Given the description of an element on the screen output the (x, y) to click on. 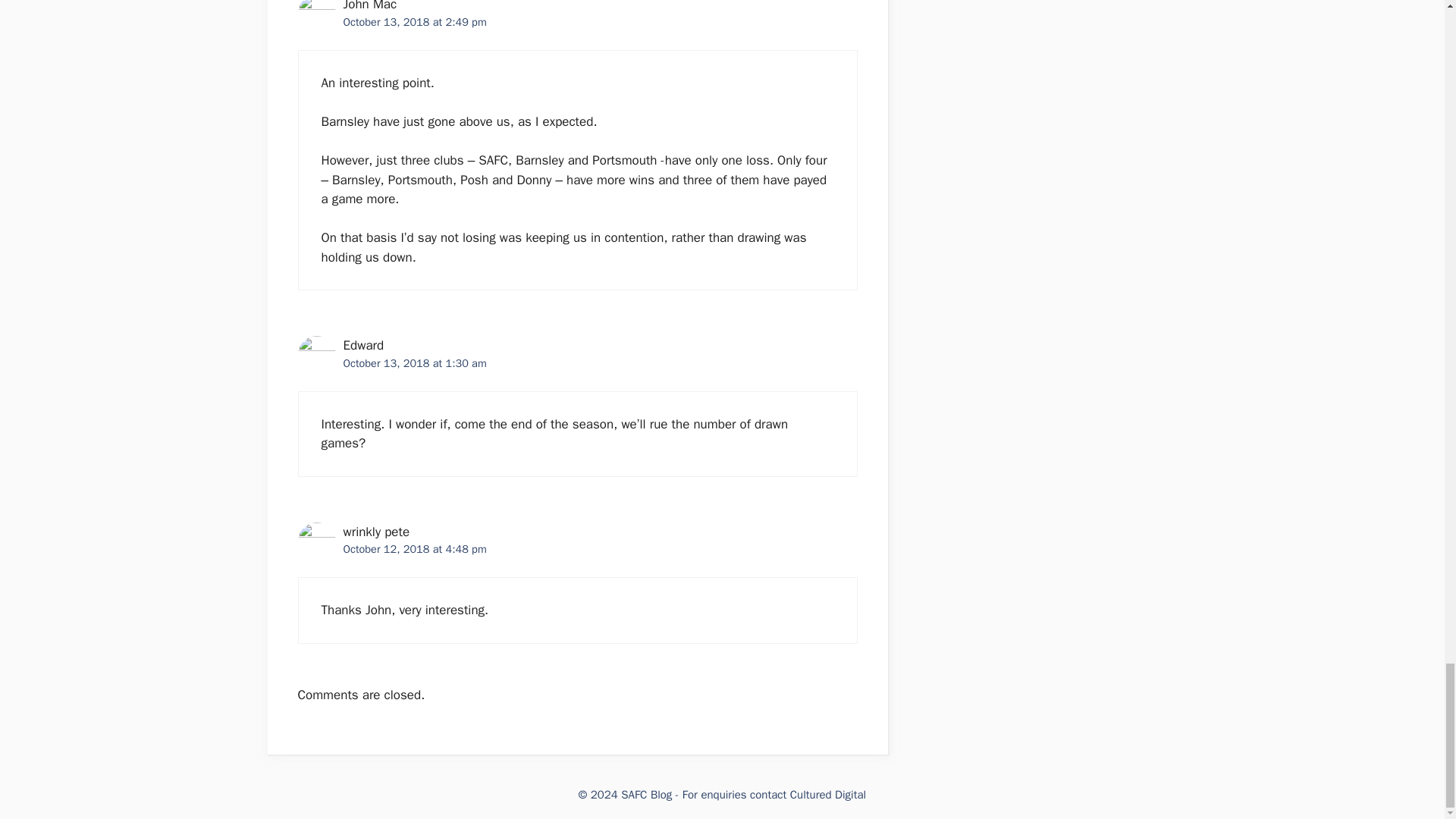
October 13, 2018 at 1:30 am (414, 363)
October 12, 2018 at 4:48 pm (414, 549)
October 13, 2018 at 2:49 pm (414, 21)
